Given the description of an element on the screen output the (x, y) to click on. 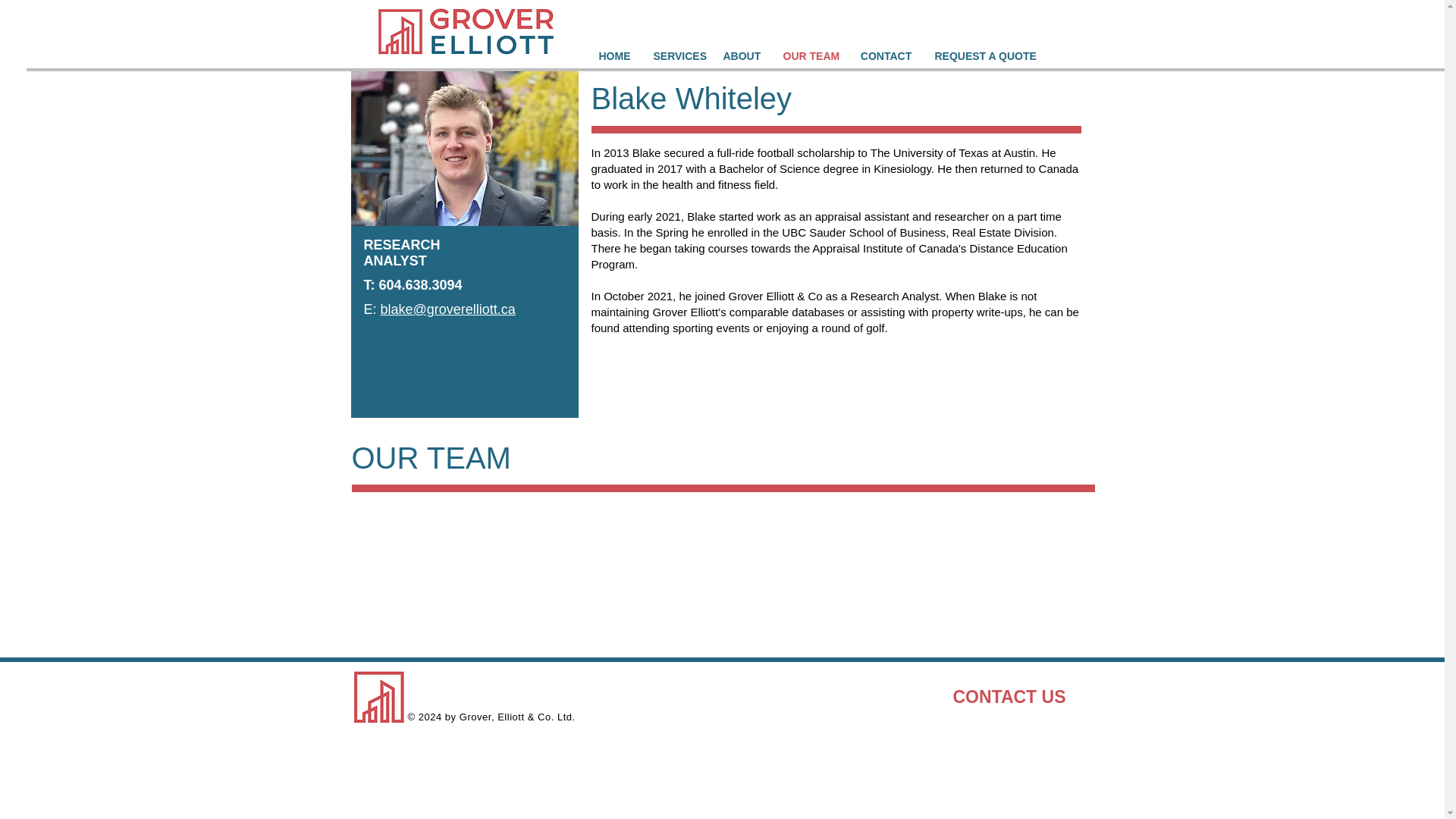
CONTACT (885, 56)
REQUEST A QUOTE (984, 56)
HOME (614, 56)
GroverElliott-14 copy.jpg (464, 148)
ABOUT (741, 56)
OUR TEAM (809, 56)
SERVICES (676, 56)
